Given the description of an element on the screen output the (x, y) to click on. 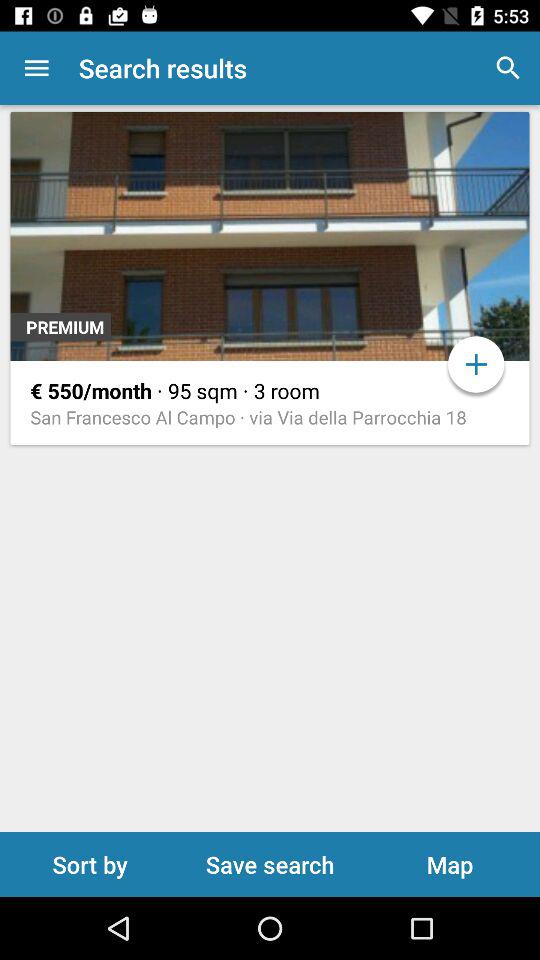
turn on the map (450, 863)
